Given the description of an element on the screen output the (x, y) to click on. 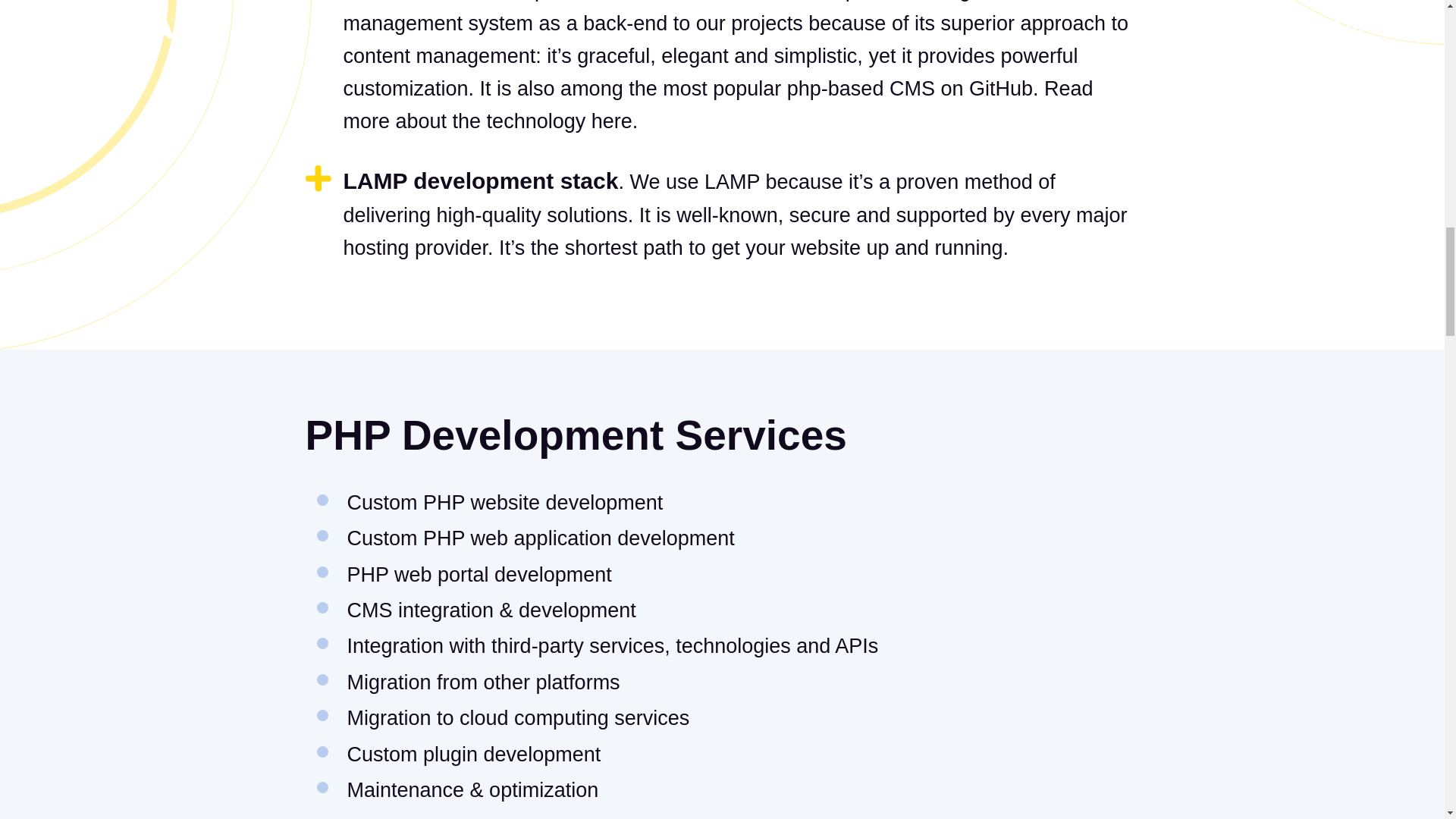
most popular php-based CMS on GitHub (847, 87)
here (611, 120)
